Given the description of an element on the screen output the (x, y) to click on. 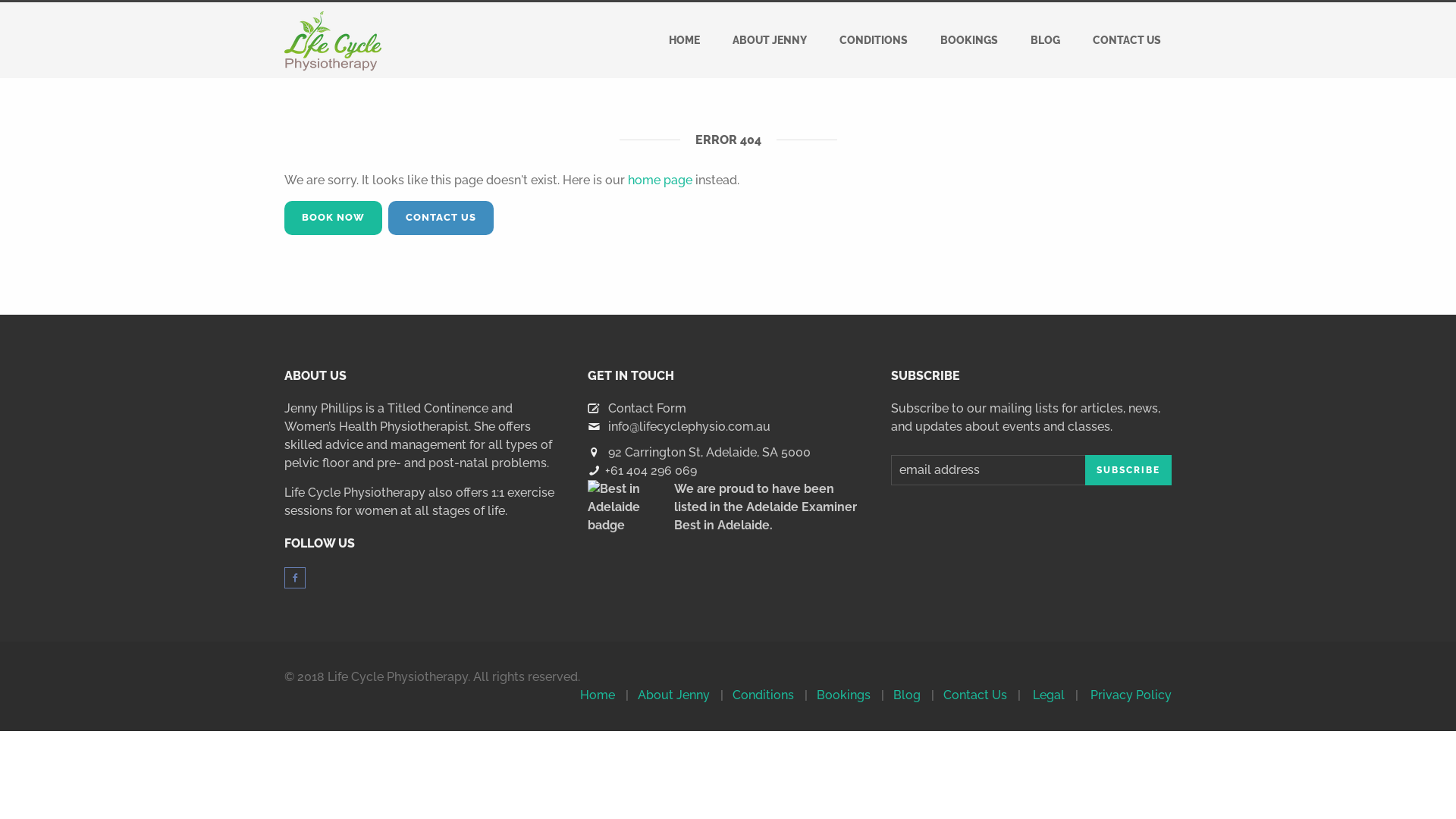
home page Element type: text (659, 179)
Bookings Element type: text (843, 694)
CONDITIONS Element type: text (873, 40)
Blog Element type: text (906, 694)
ABOUT JENNY Element type: text (769, 40)
BOOKINGS Element type: text (968, 40)
HOME Element type: text (684, 40)
BLOG Element type: text (1044, 40)
Contact Us Element type: text (975, 694)
Home Element type: text (597, 694)
Conditions Element type: text (762, 694)
Adelaide Examiner Best in Adelaide Element type: text (765, 515)
CONTACT US Element type: text (440, 217)
About Jenny Element type: text (673, 694)
Contact Form Element type: text (647, 408)
Subscribe Element type: text (1128, 470)
BOOK NOW Element type: text (333, 217)
CONTACT US Element type: text (1126, 40)
info@lifecyclephysio.com.au Element type: text (689, 426)
Privacy Policy Element type: text (1130, 694)
Legal Element type: text (1048, 694)
